Given the description of an element on the screen output the (x, y) to click on. 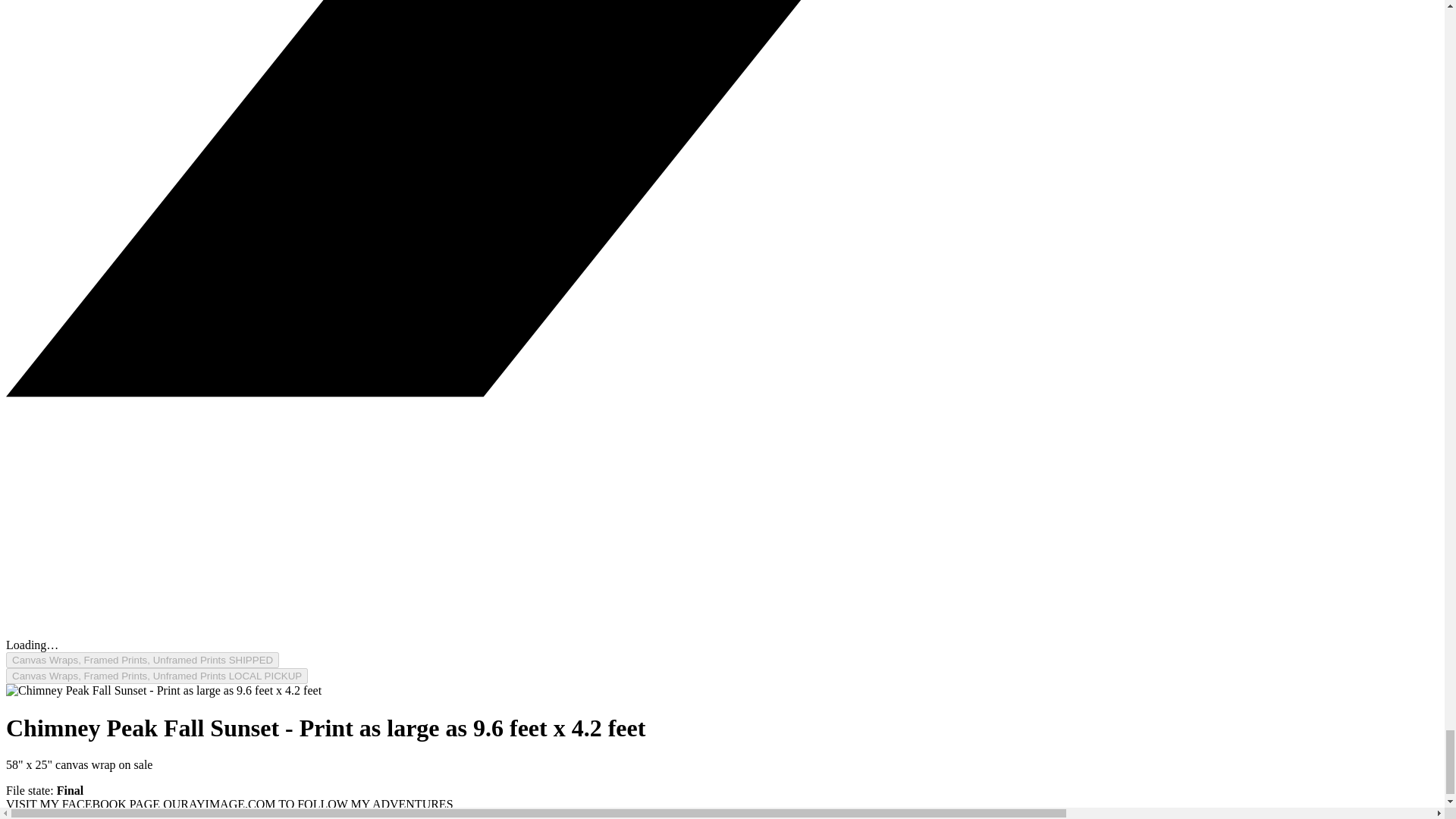
Canvas Wraps, Framed Prints, Unframed Prints SHIPPED (142, 659)
Canvas Wraps, Framed Prints, Unframed Prints LOCAL PICKUP (156, 675)
Canvas Wraps, Framed Prints, Unframed Prints SHIPPED (142, 659)
Canvas Wraps, Framed Prints, Unframed Prints LOCAL PICKUP (156, 675)
